Given the description of an element on the screen output the (x, y) to click on. 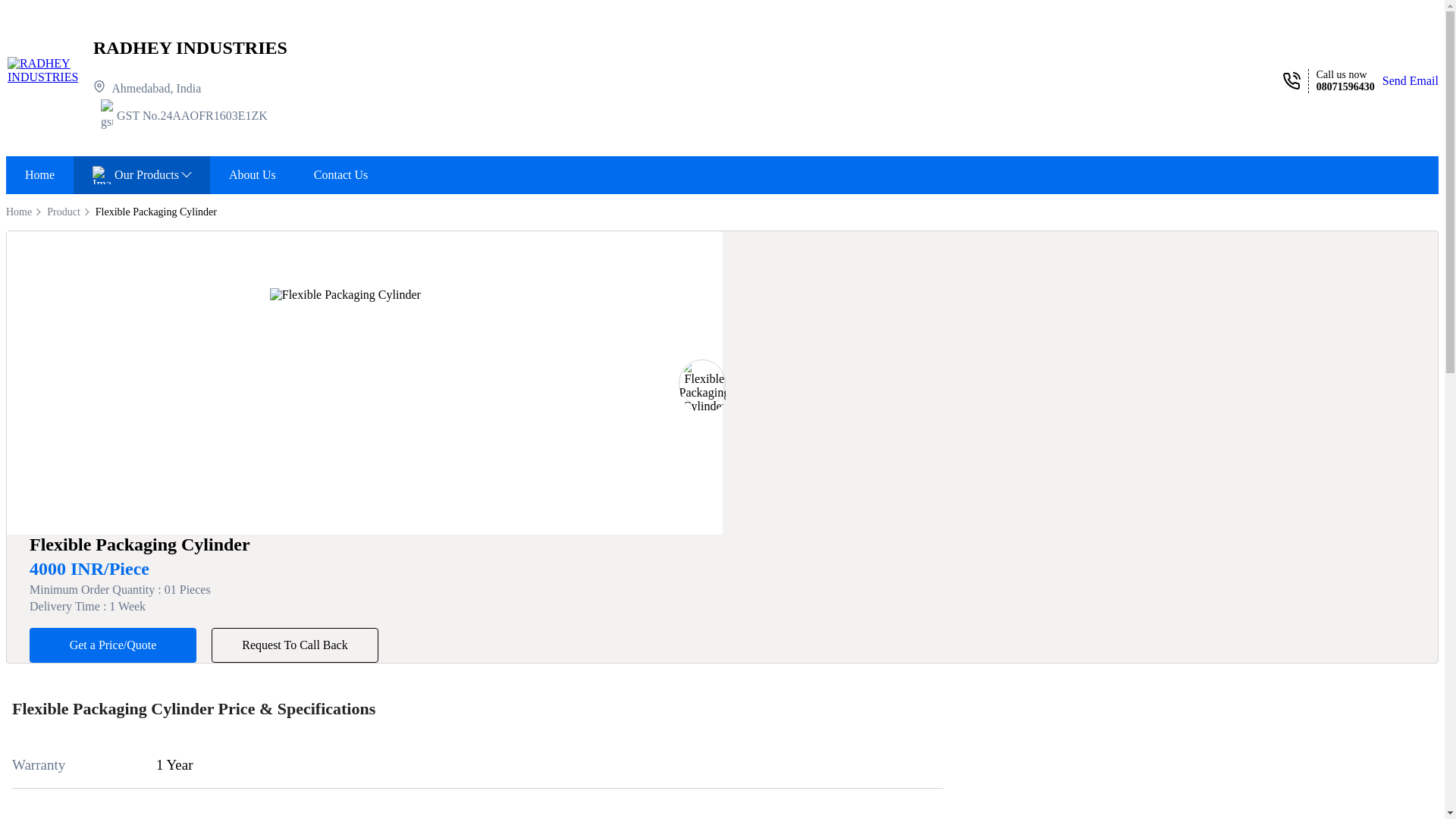
Contact Us (341, 175)
About Us (252, 175)
RADHEY INDUSTRIES (189, 47)
Our Products     (141, 175)
Home (39, 175)
08071596430 (1345, 86)
